Given the description of an element on the screen output the (x, y) to click on. 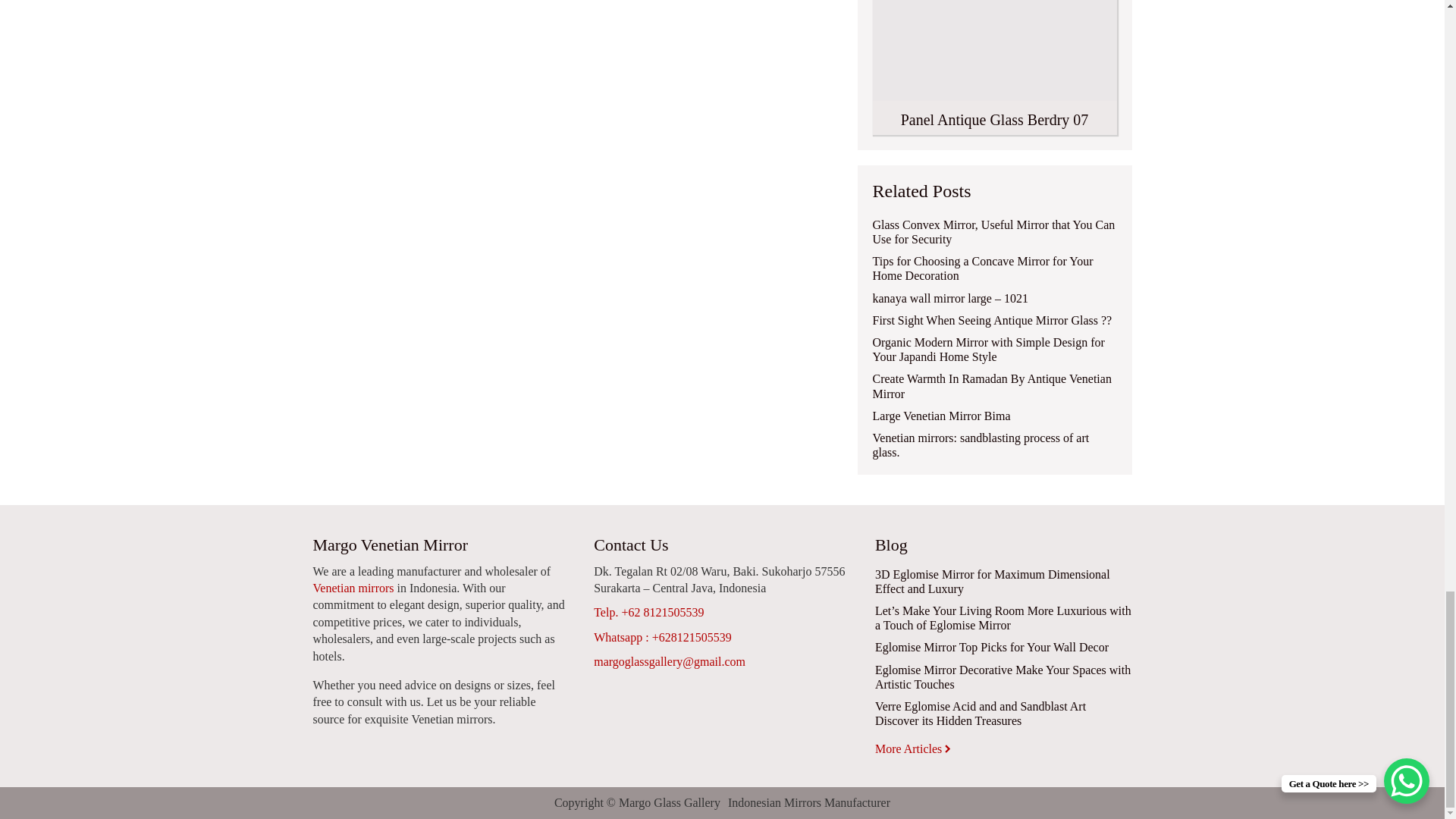
Venetian mirrors: sandblasting process of art glass. (994, 444)
More Articles (914, 748)
Venetian mirrors (353, 587)
3D Eglomise Mirror for Maximum Dimensional Effect and Luxury (1003, 581)
Indonesian Mirrors Manufacturer (808, 802)
Eglomise Mirror Top Picks for Your Wall Decor (991, 646)
First Sight When Seeing Antique Mirror Glass ?? (992, 319)
